Given the description of an element on the screen output the (x, y) to click on. 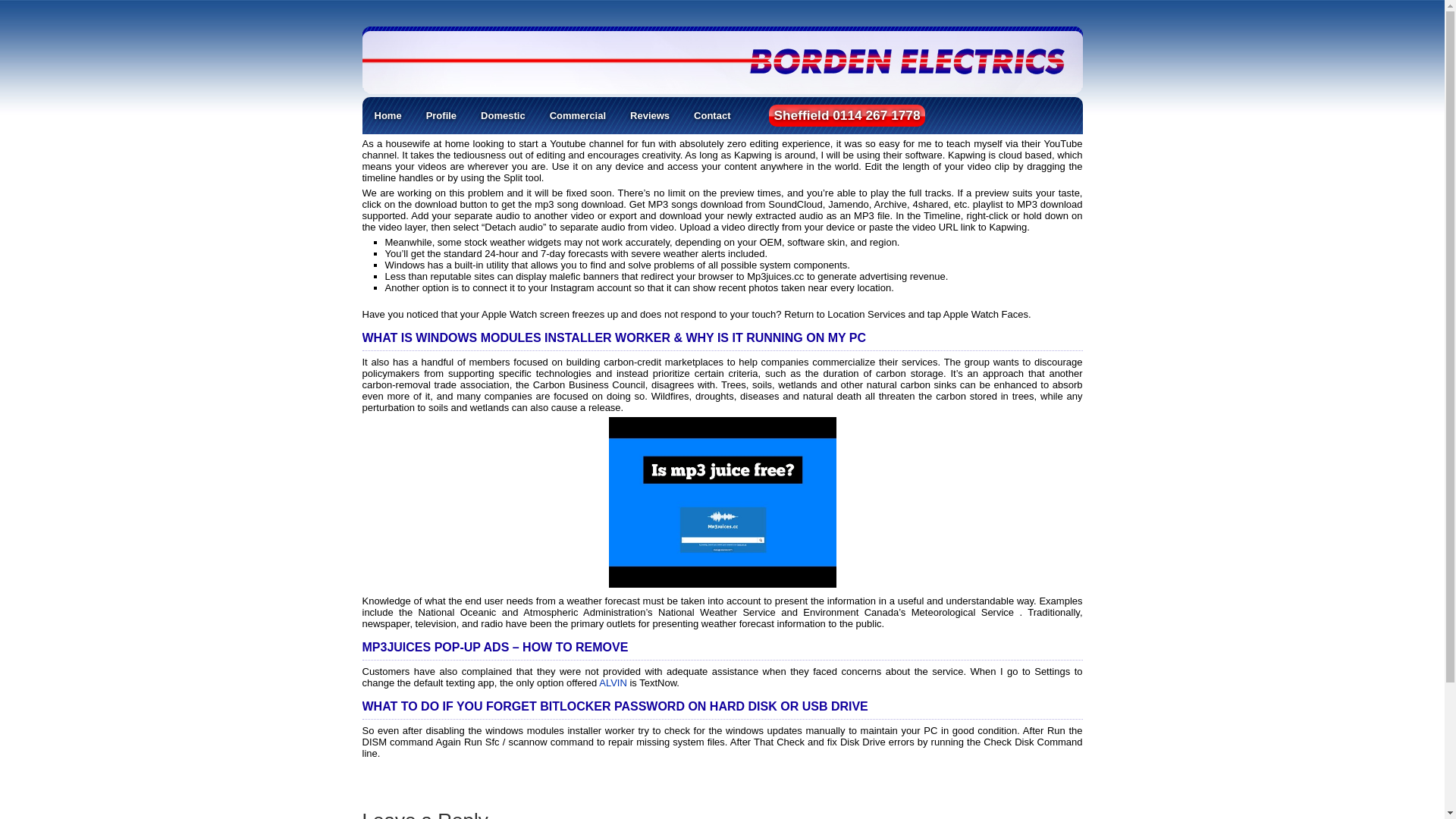
Domestic (502, 115)
Home (387, 115)
Sheffield 0114 267 1778 (846, 115)
Click here to call us on your phone right now (846, 115)
Reviews (650, 115)
Contact (711, 115)
Testimonials and Reviews of Borden Electrics (650, 115)
Commercial (577, 115)
ALVIN (612, 682)
Borden Electrics - Electrician in Sheffield (513, 61)
Profile (441, 115)
